Given the description of an element on the screen output the (x, y) to click on. 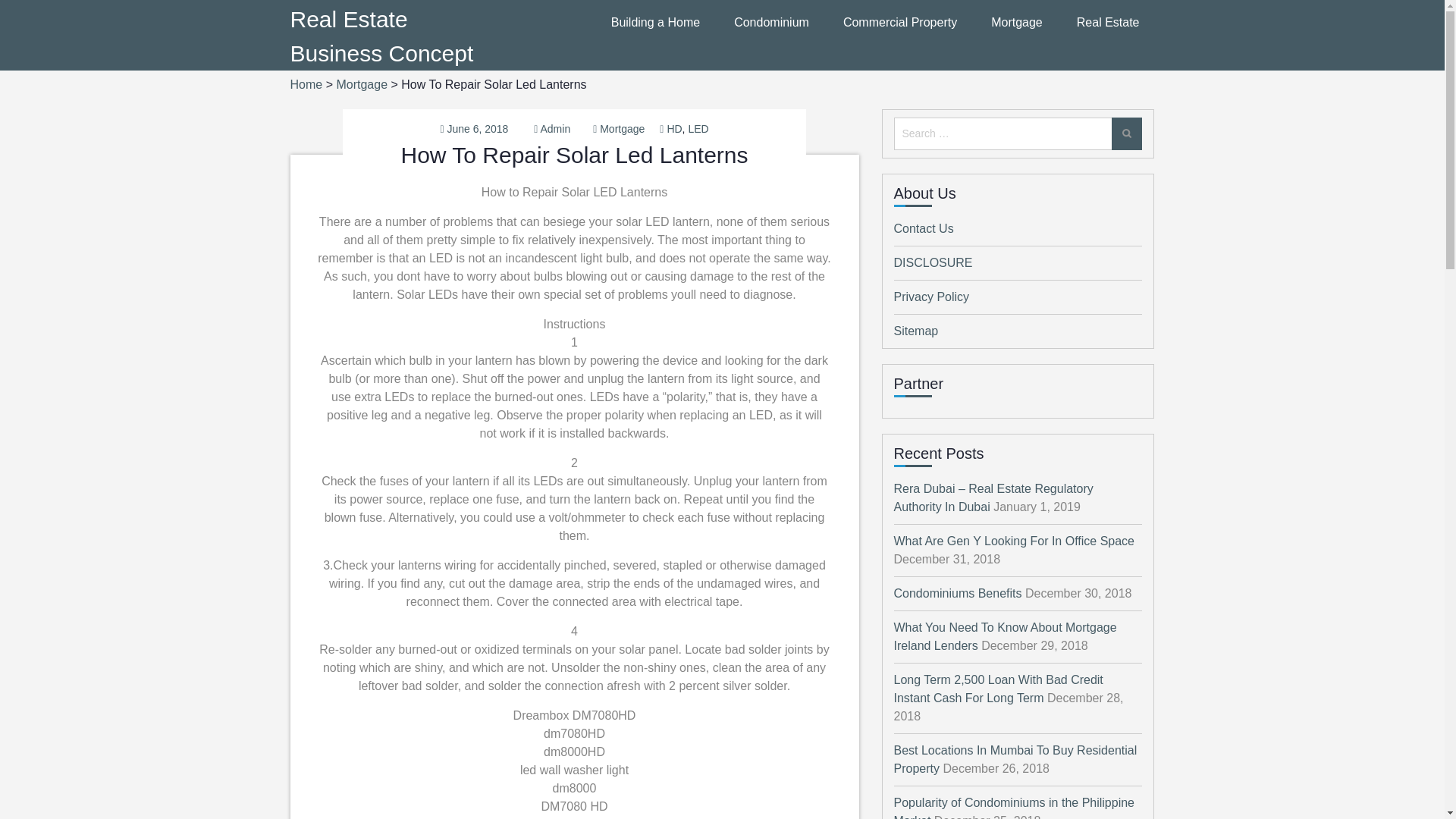
HD (673, 128)
Search (1126, 133)
What Are Gen Y Looking For In Office Space (1013, 540)
Home (305, 83)
June 6, 2018 (477, 128)
Popularity of Condominiums in the Philippine Market (1013, 807)
DISCLOSURE (932, 262)
Real Estate (1108, 22)
Admin (555, 128)
Commercial Property (899, 22)
Mortgage (361, 83)
Real Estate Business Concept (381, 36)
Search (1126, 133)
Building a Home (655, 22)
Contact Us (923, 228)
